Given the description of an element on the screen output the (x, y) to click on. 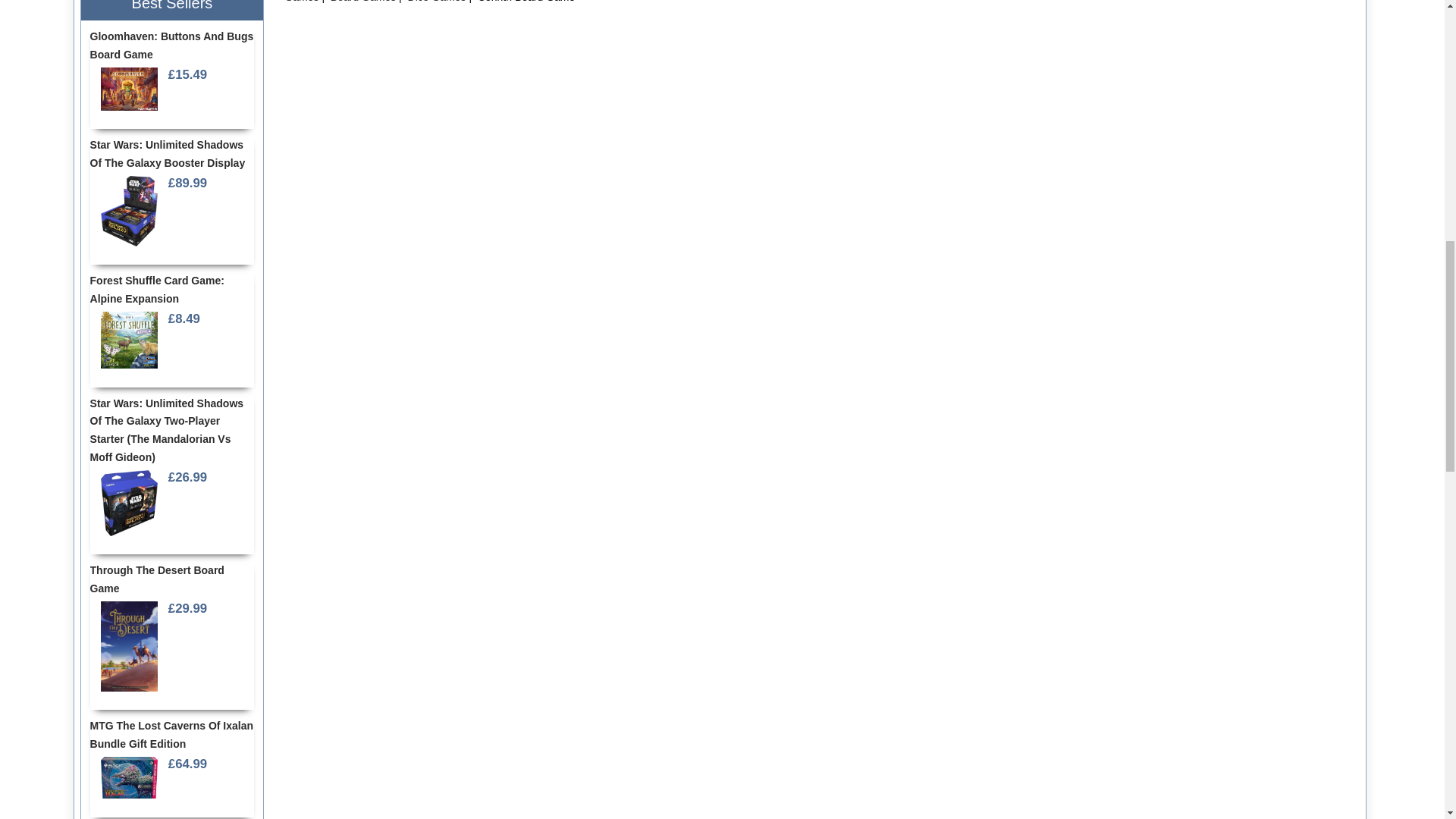
Gloomhaven: Buttons And Bugs Board Game (128, 88)
Forest Shuffle Card Game: Alpine Expansion (128, 340)
Star Wars: Unlimited Shadows Of The Galaxy Booster Display (128, 210)
MTG The Lost Caverns Of Ixalan Bundle Gift Edition (128, 777)
Through The Desert Board Game (128, 646)
